Given the description of an element on the screen output the (x, y) to click on. 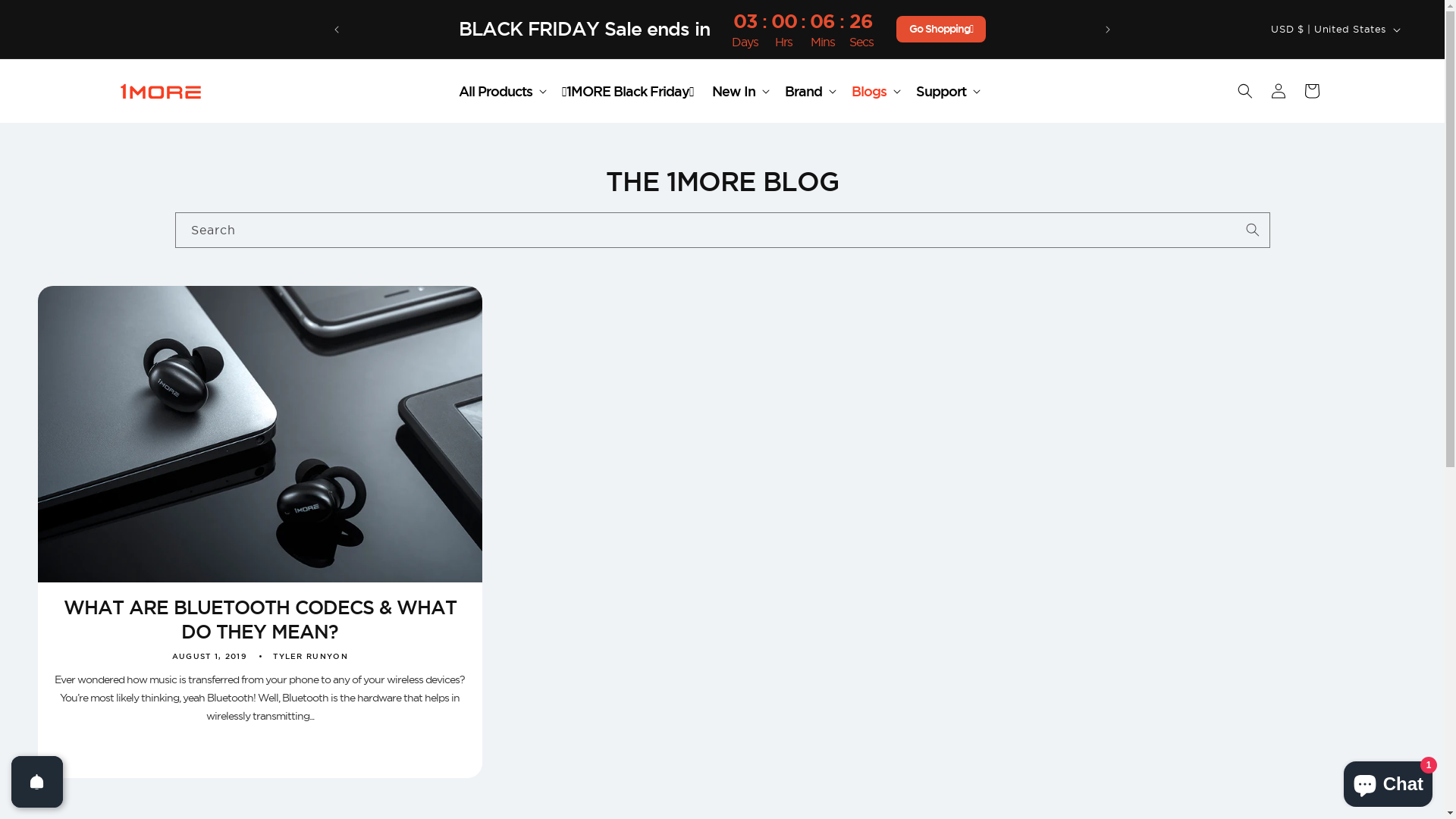
Log in Element type: text (1278, 90)
Shopify online store chat Element type: hover (1388, 780)
WHAT ARE BLUETOOTH CODECS & WHAT DO THEY MEAN? Element type: text (260, 619)
Cart Element type: text (1311, 90)
USD $ | United States Element type: text (1333, 29)
